Given the description of an element on the screen output the (x, y) to click on. 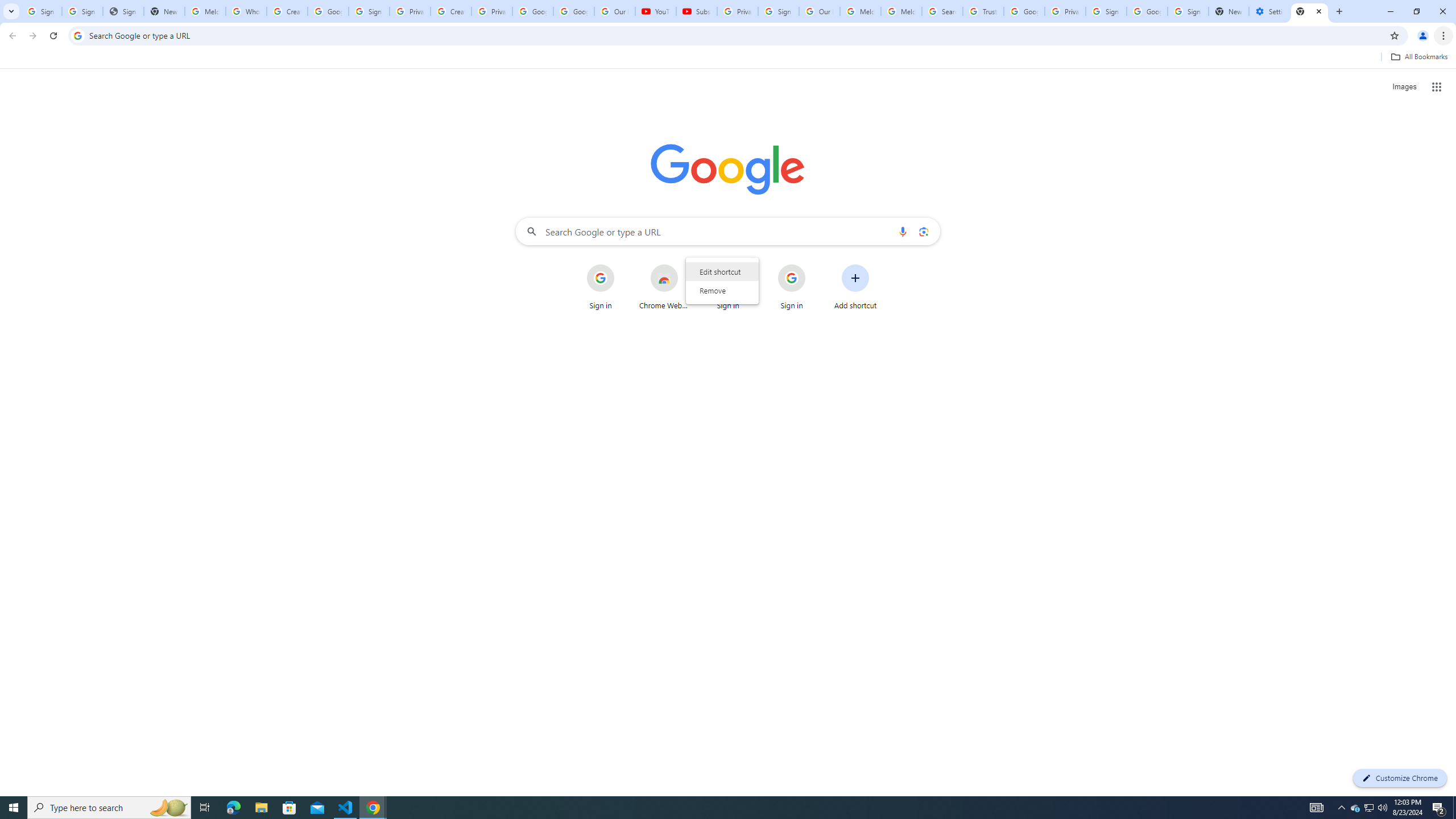
Remove (721, 289)
Sign in - Google Accounts (1187, 11)
Who is my administrator? - Google Account Help (246, 11)
